Given the description of an element on the screen output the (x, y) to click on. 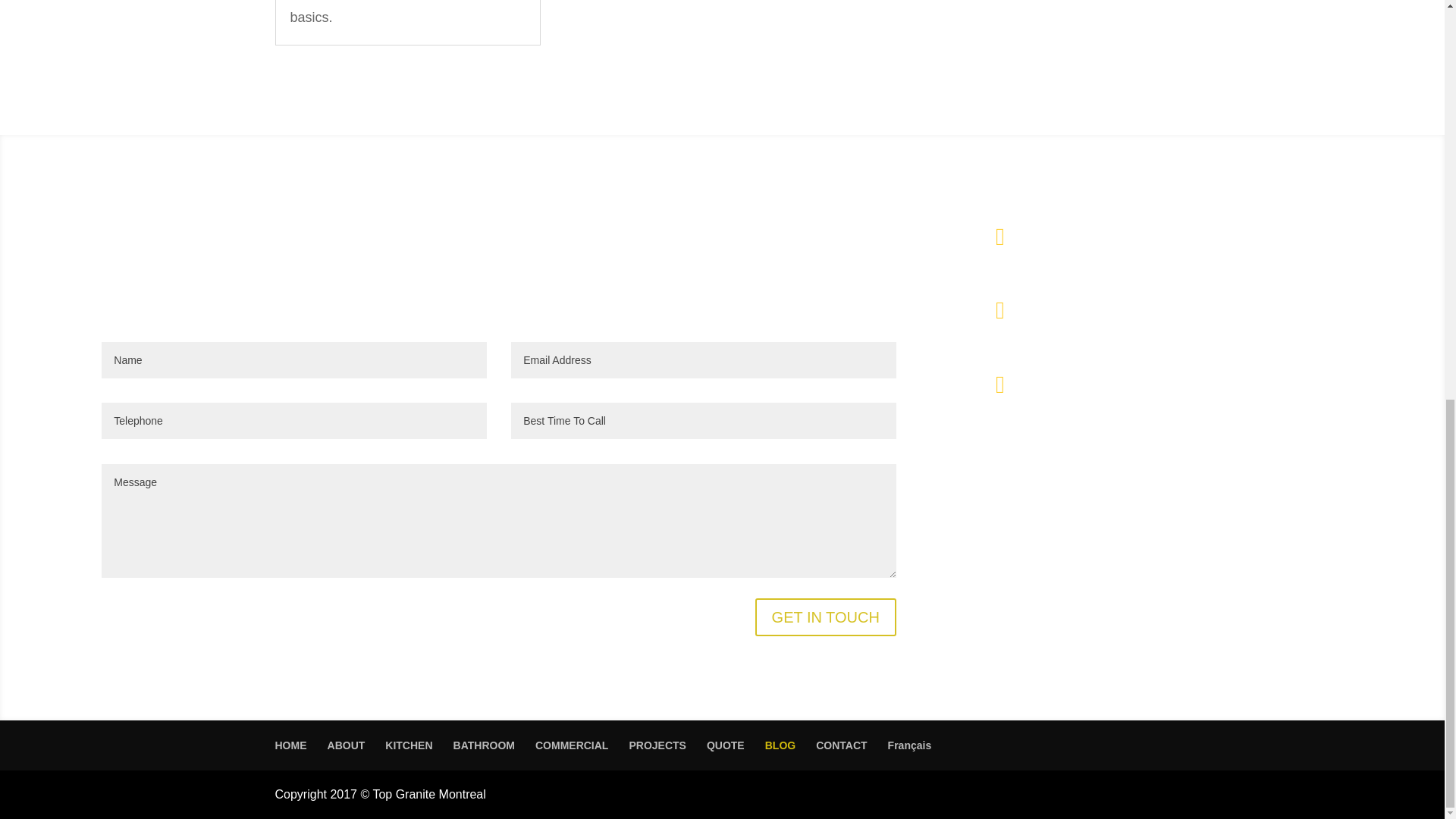
CONTACT (840, 745)
GET IN TOUCH (825, 617)
HOME (290, 745)
COMMERCIAL (571, 745)
BATHROOM (483, 745)
ABOUT (346, 745)
KITCHEN (408, 745)
514-422-0800 (1077, 305)
PROJECTS (656, 745)
QUOTE (725, 745)
